Given the description of an element on the screen output the (x, y) to click on. 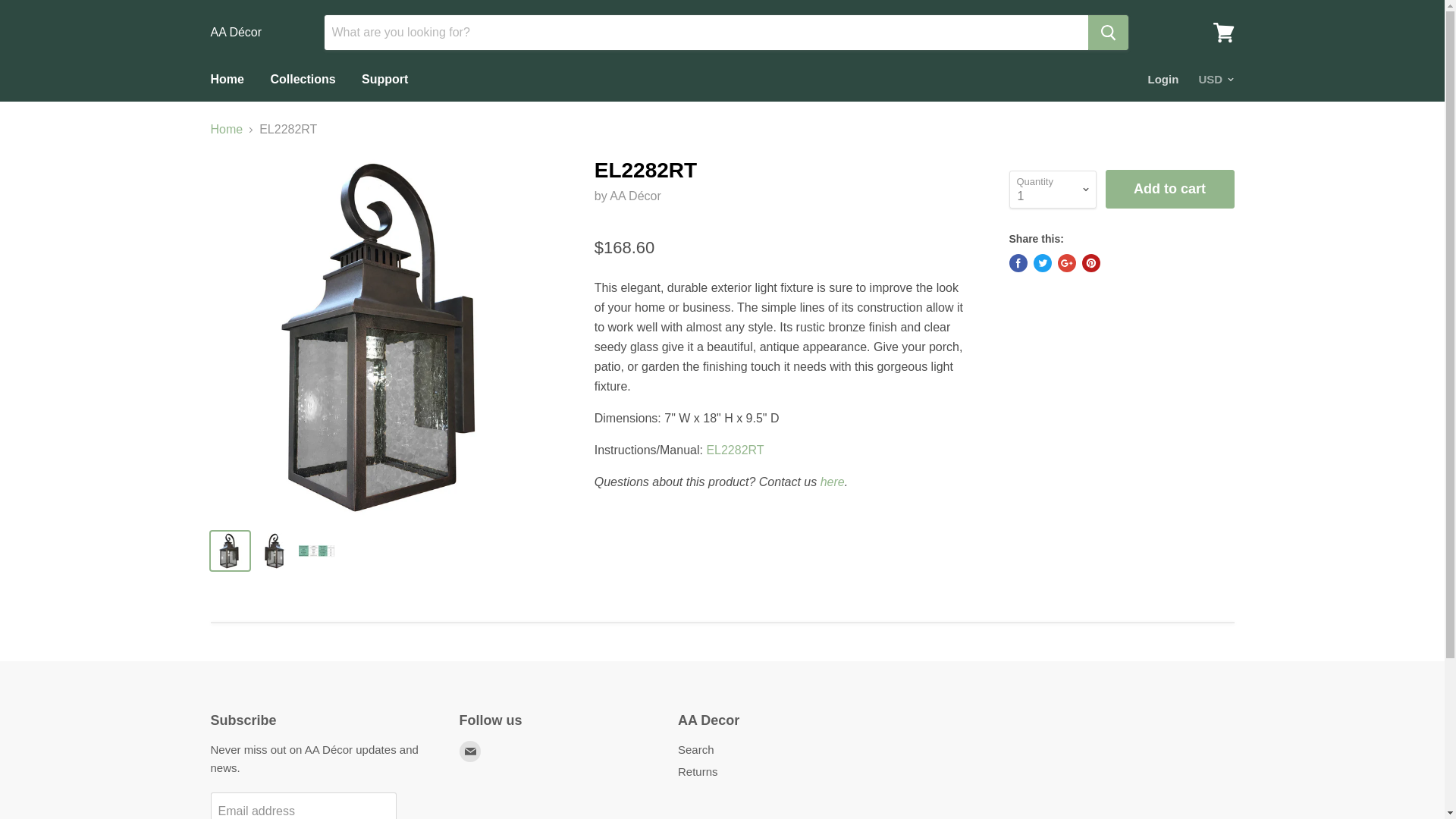
Login (1163, 79)
View cart (1223, 32)
Collections (302, 79)
Home (226, 79)
Support (384, 79)
E-mail (470, 750)
